Given the description of an element on the screen output the (x, y) to click on. 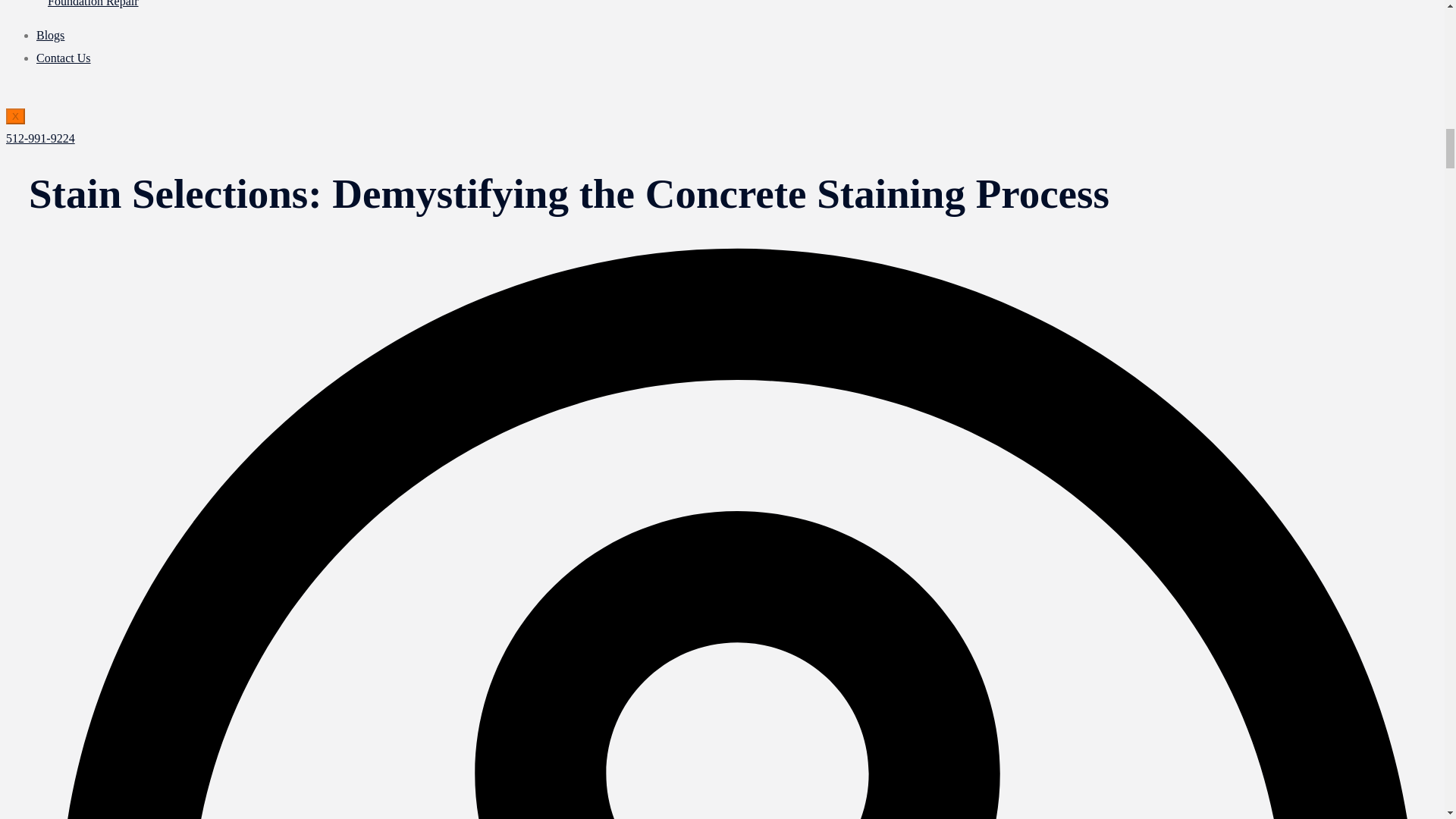
Blogs (50, 34)
Contact Us (63, 57)
